Given the description of an element on the screen output the (x, y) to click on. 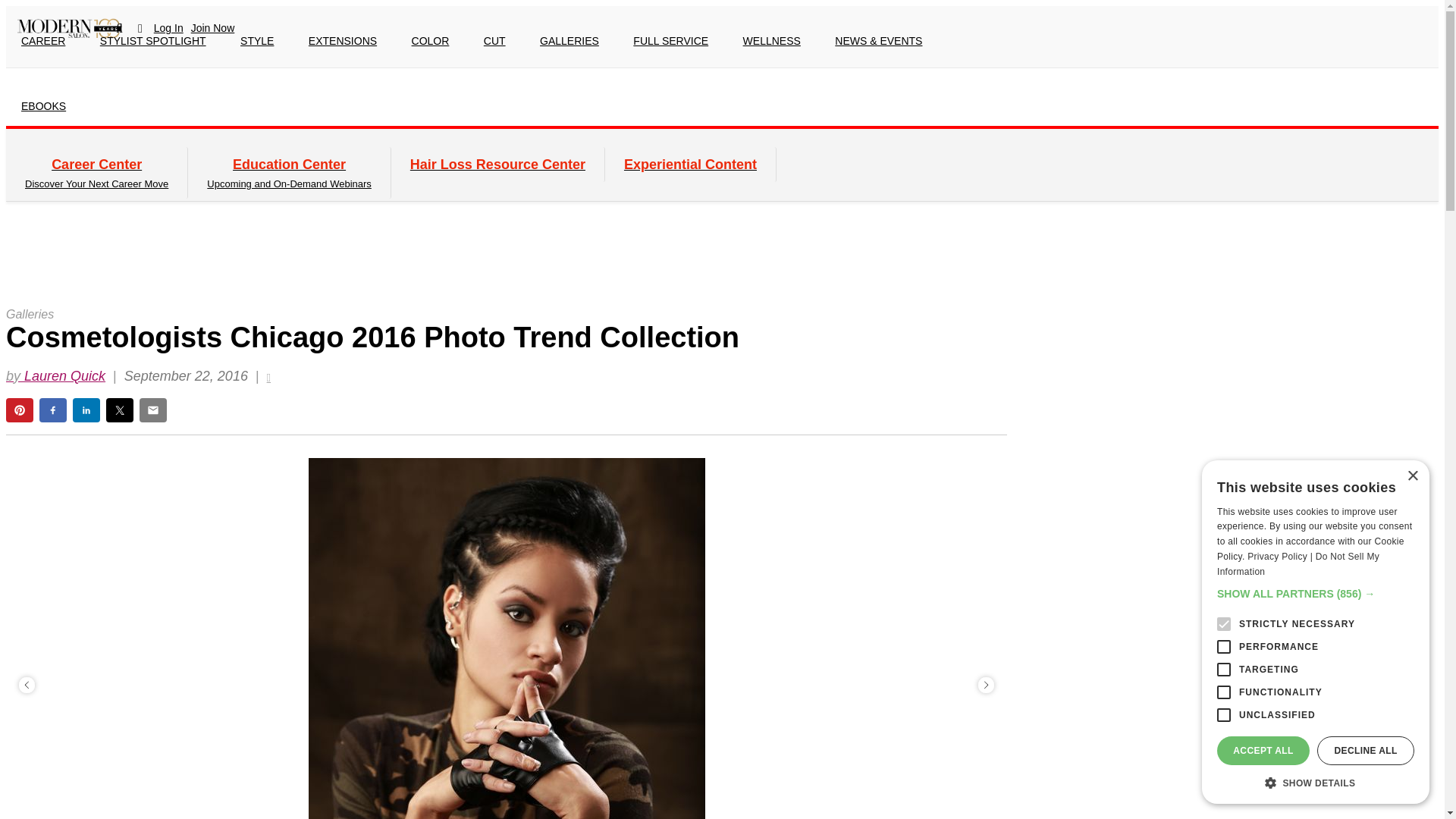
Career (42, 40)
CAREER (42, 40)
Color (430, 40)
Cut (494, 40)
Log In (168, 28)
Galleries (569, 40)
Stylist Spotlight (152, 40)
Join Now (212, 28)
Extensions (342, 40)
Style (256, 40)
eBooks (43, 106)
Wellness (771, 40)
Full Service (670, 40)
